Given the description of an element on the screen output the (x, y) to click on. 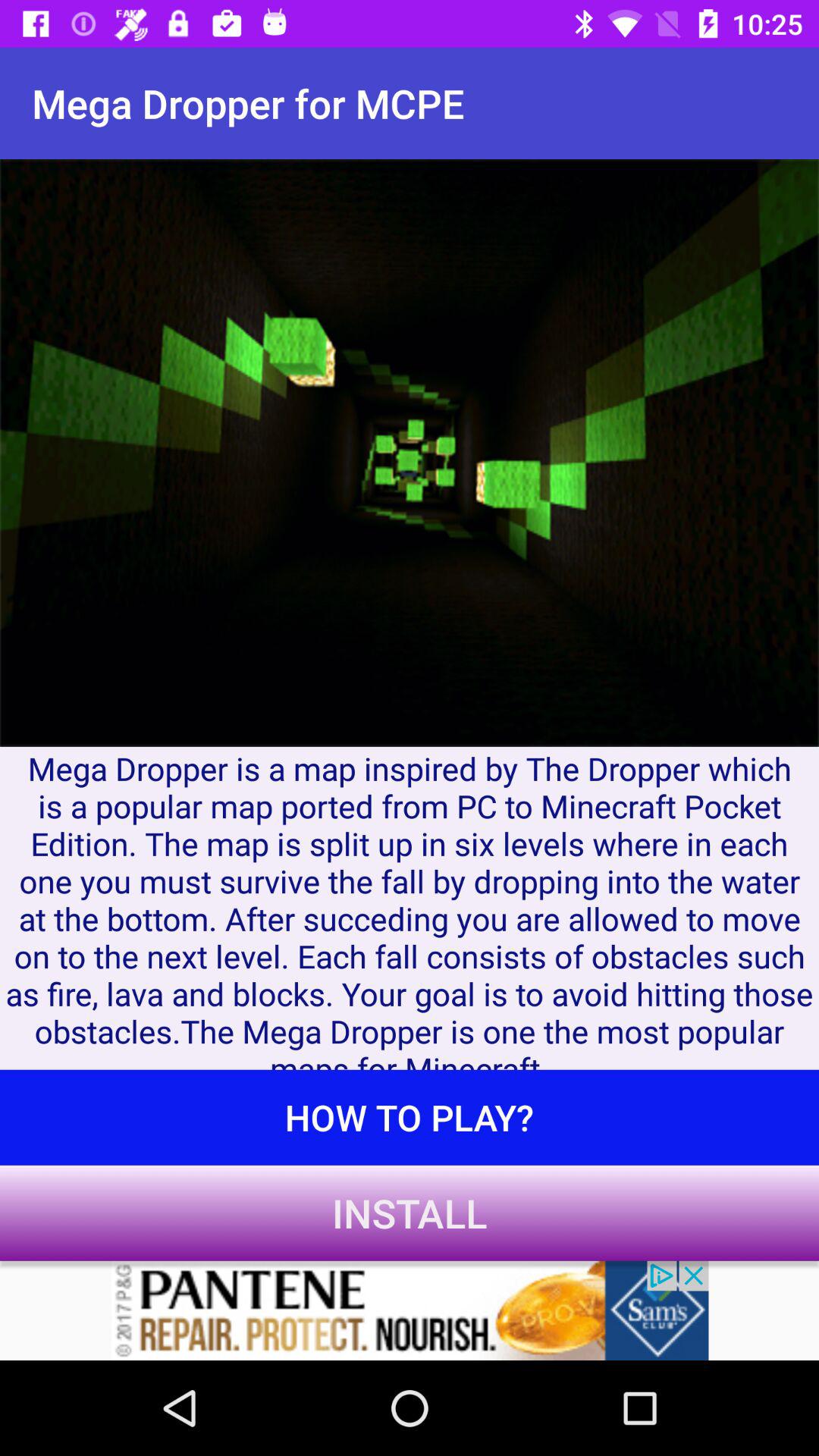
advertisement bar (409, 1310)
